Given the description of an element on the screen output the (x, y) to click on. 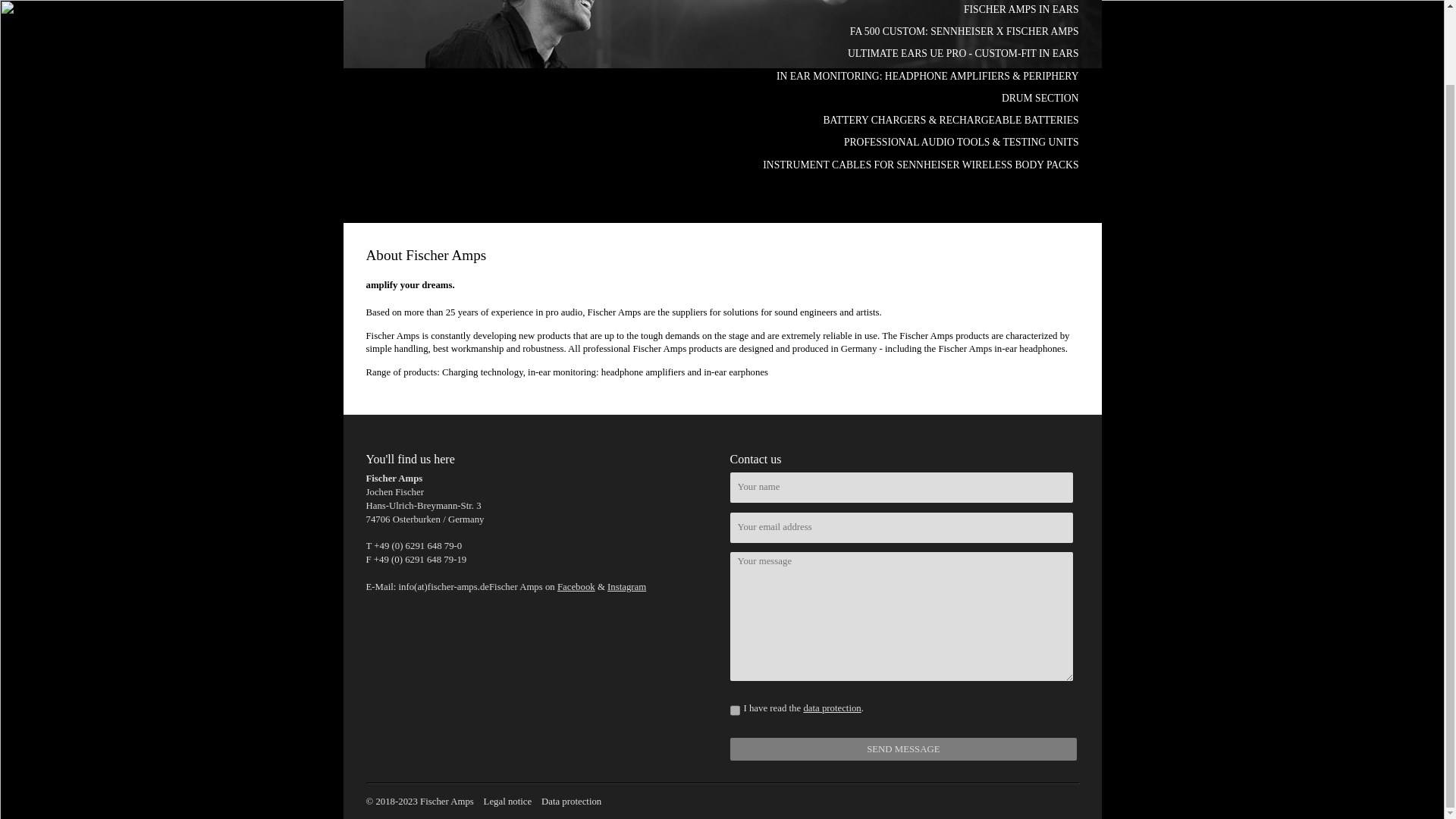
FA 500 CUSTOM: SENNHEISER X FISCHER AMPS (964, 30)
Sennheiser x Fischer Amps (964, 30)
Ultimate Ears UE Pro - Custom-Fit  In Ears (962, 52)
FISCHER AMPS - amplifiy your dreams. (449, 228)
INSTRUMENT CABLES FOR SENNHEISER WIRELESS BODY PACKS (920, 164)
Drum Section (1039, 98)
Instrument Cables for Sennheiser Wireless Body Packs (920, 164)
DRUM SECTION (1039, 98)
Fischer Amps In Ears (1020, 9)
